Given the description of an element on the screen output the (x, y) to click on. 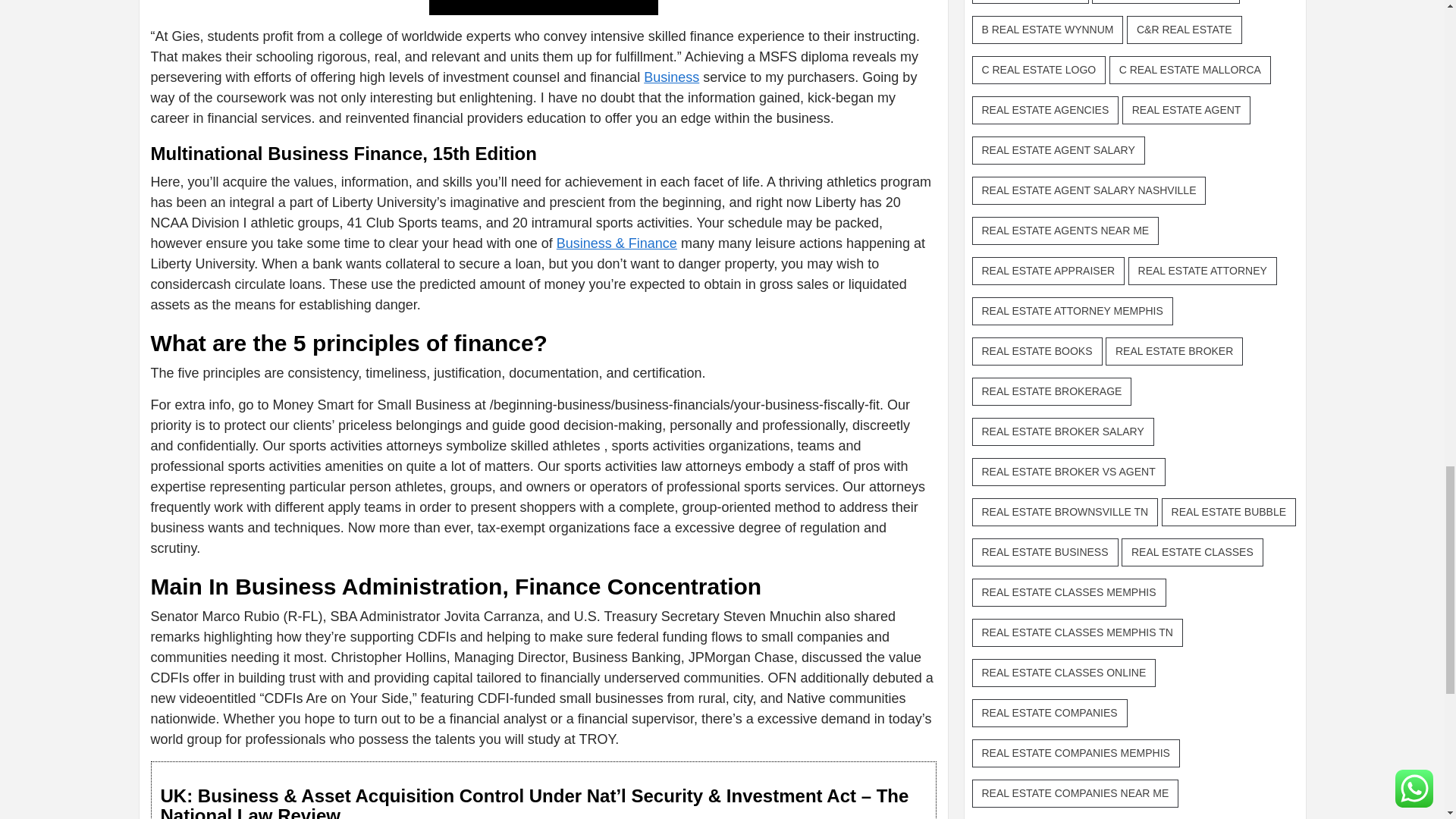
Business (670, 77)
